Given the description of an element on the screen output the (x, y) to click on. 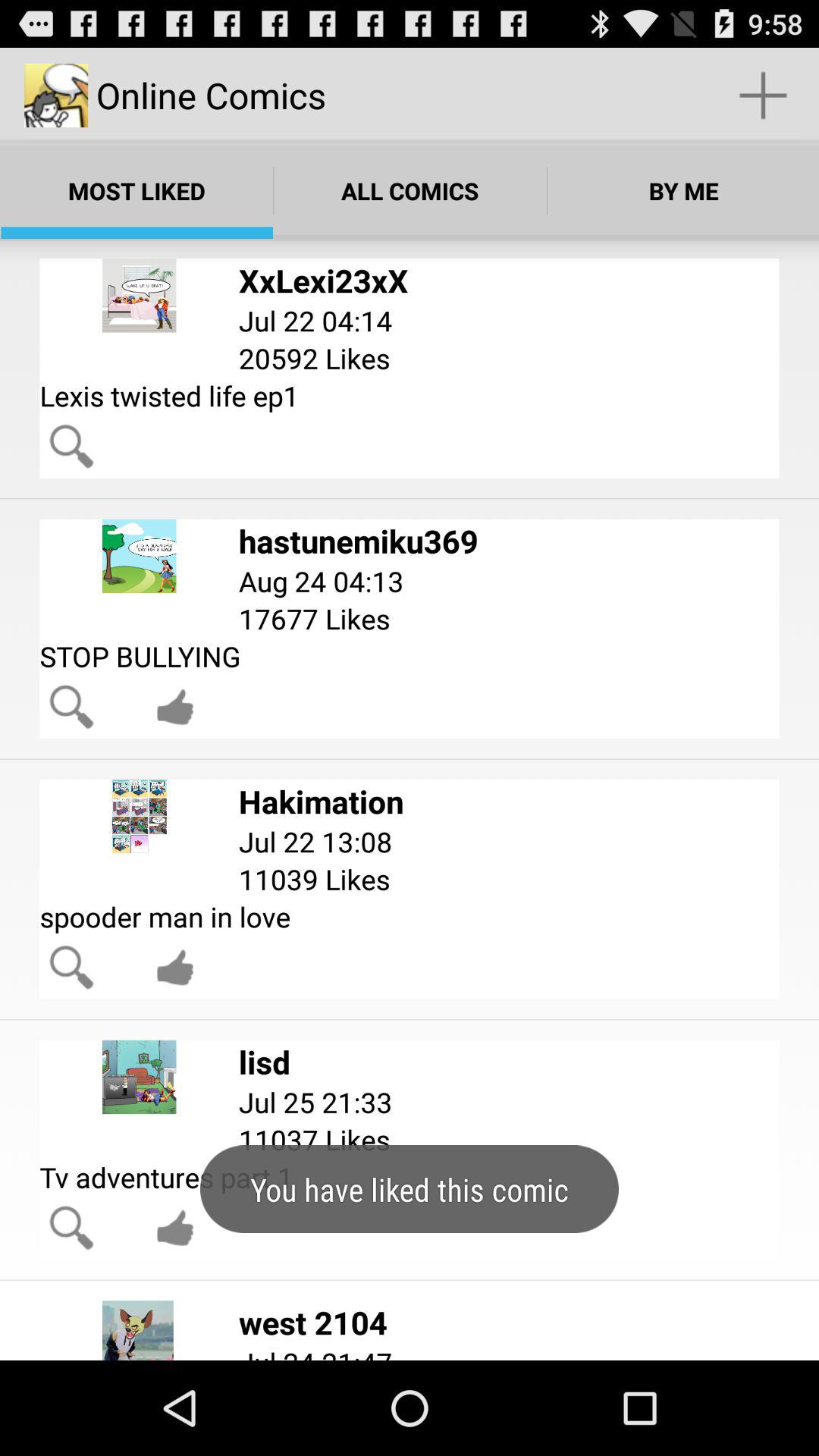
expand view (71, 446)
